Given the description of an element on the screen output the (x, y) to click on. 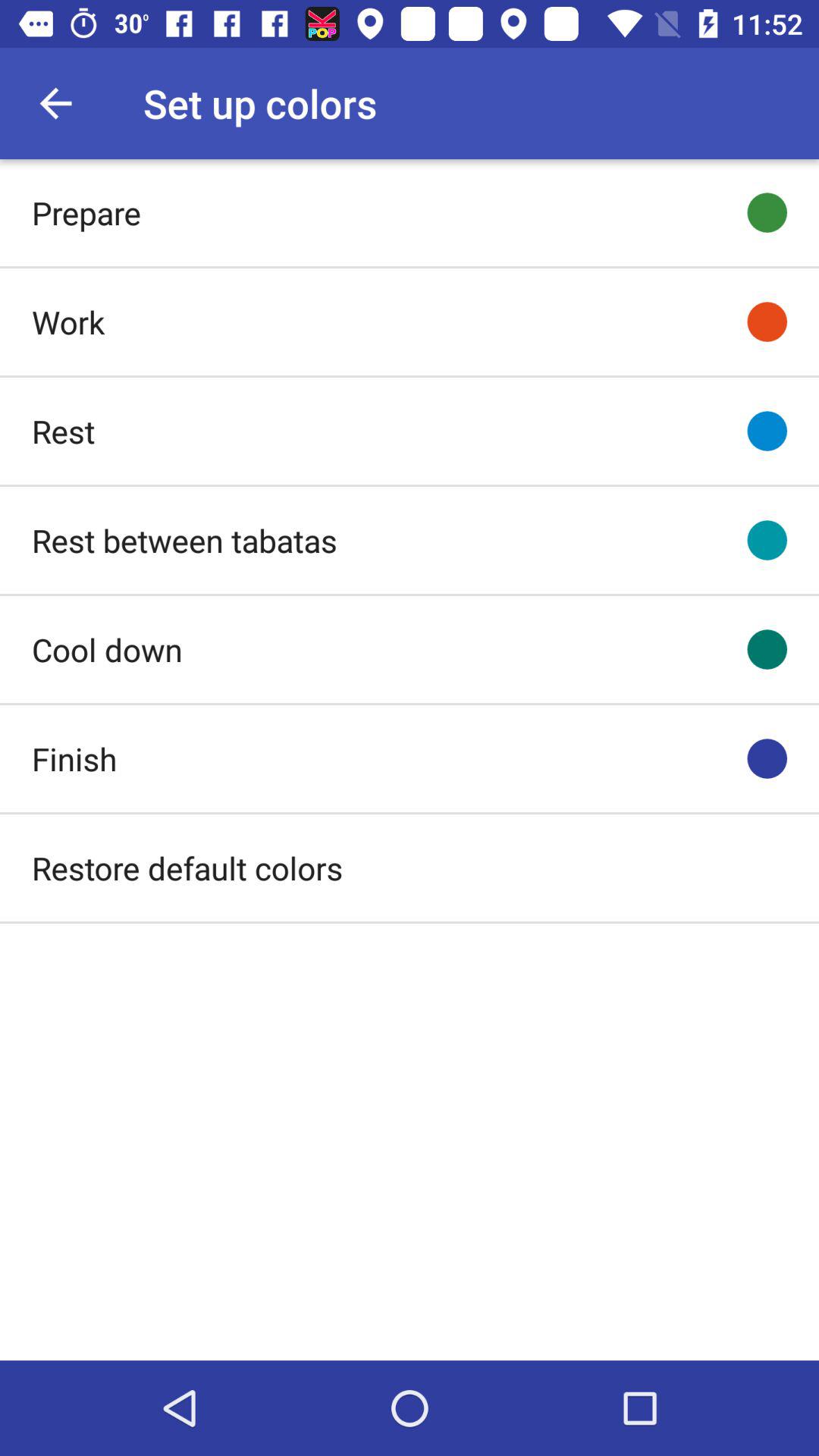
launch the restore default colors item (186, 867)
